Given the description of an element on the screen output the (x, y) to click on. 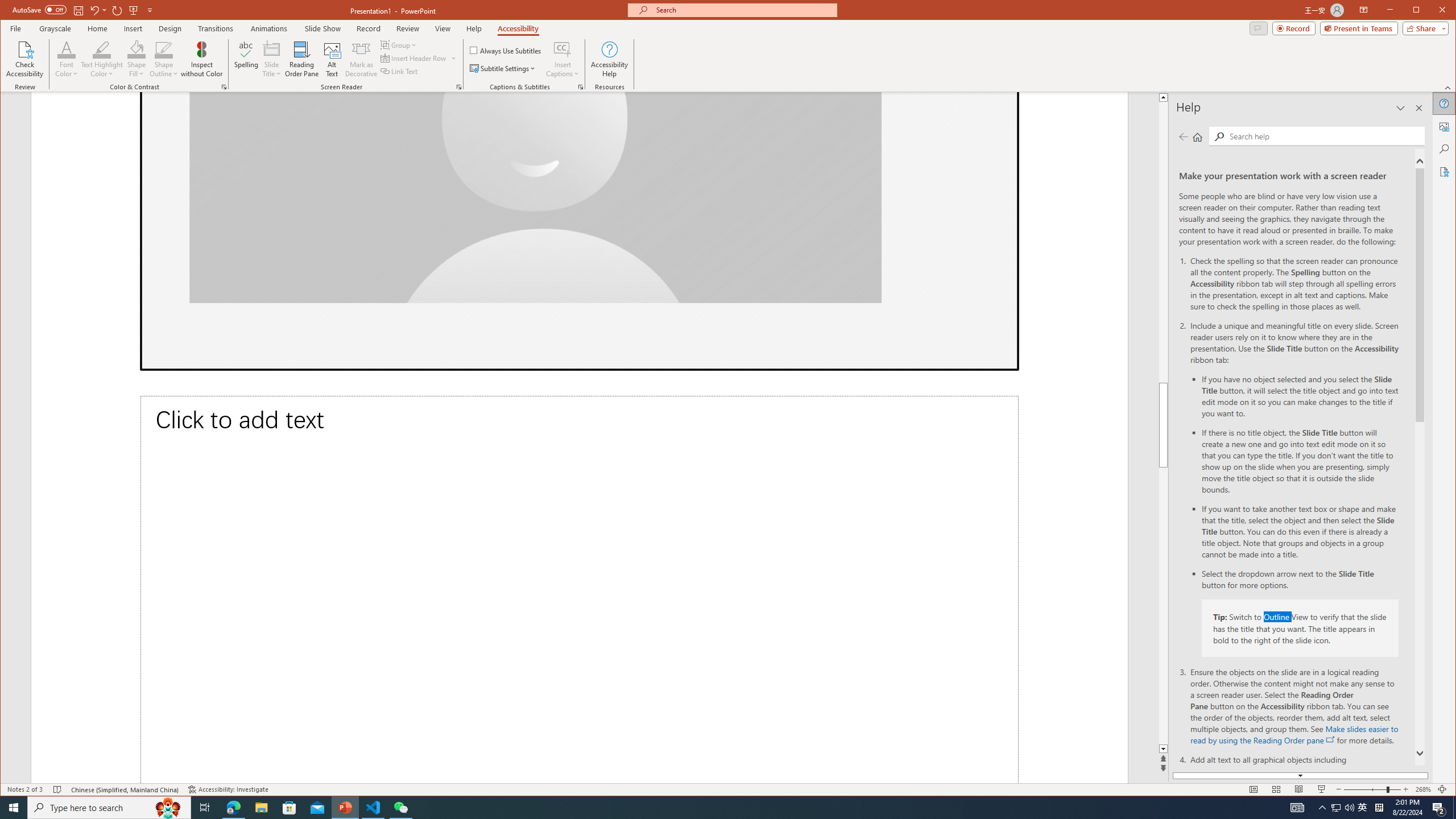
Zoom 268% (1422, 789)
